Given the description of an element on the screen output the (x, y) to click on. 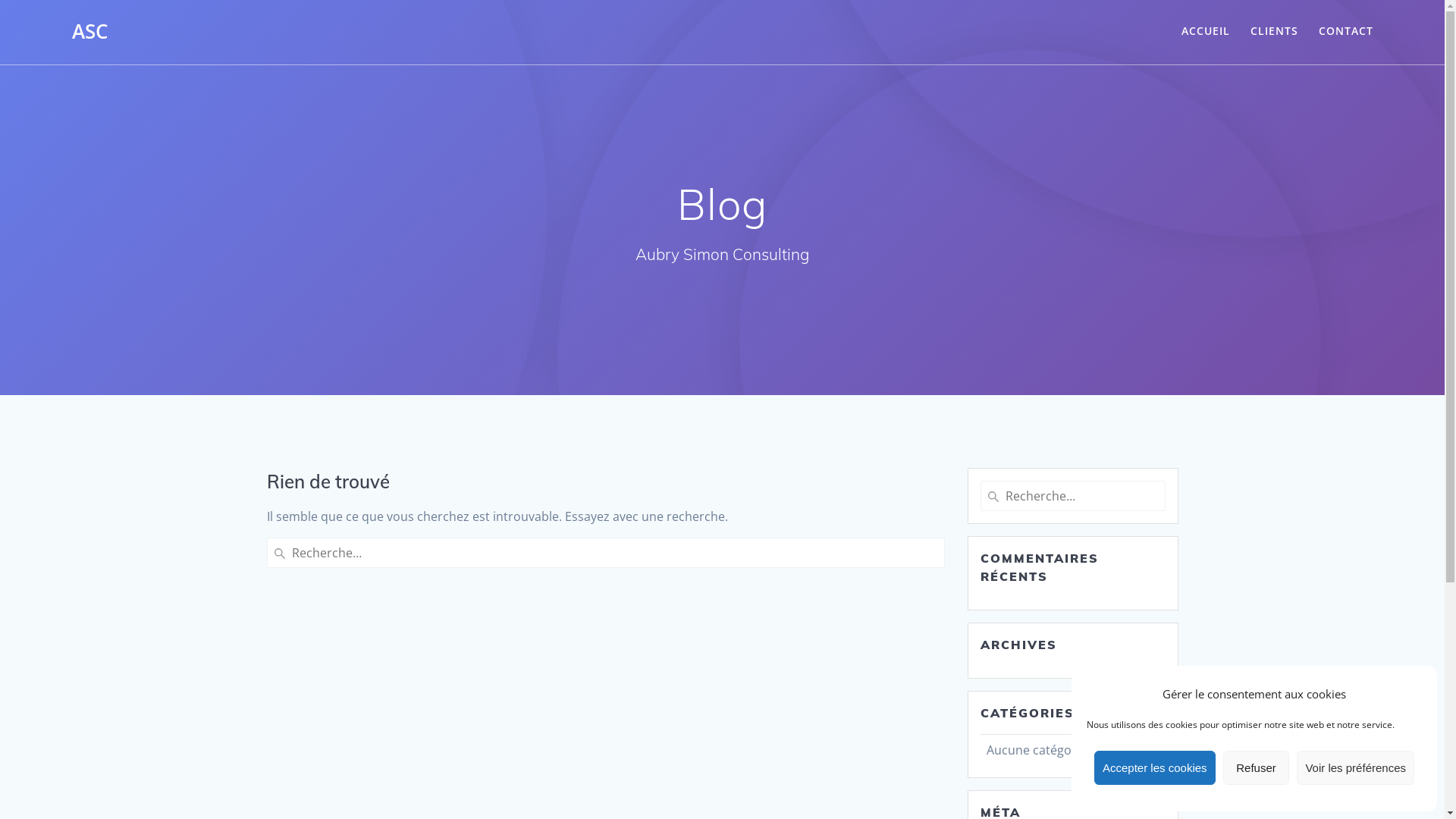
ASC Element type: text (89, 31)
Accepter les cookies Element type: text (1154, 767)
CONTACT Element type: text (1345, 31)
Refuser Element type: text (1256, 767)
CLIENTS Element type: text (1274, 31)
ACCUEIL Element type: text (1205, 31)
